Given the description of an element on the screen output the (x, y) to click on. 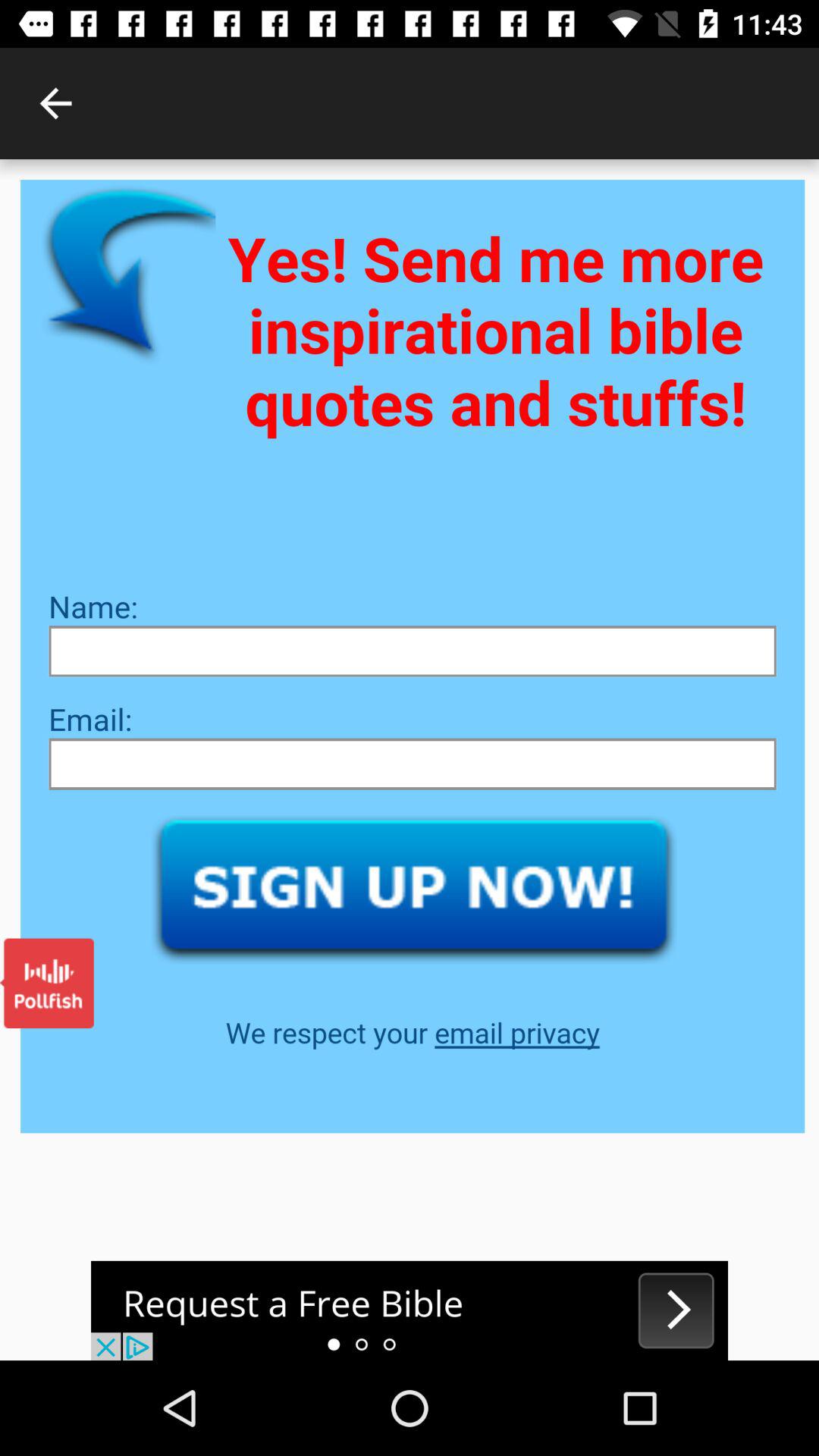
advertise box (409, 1310)
